Given the description of an element on the screen output the (x, y) to click on. 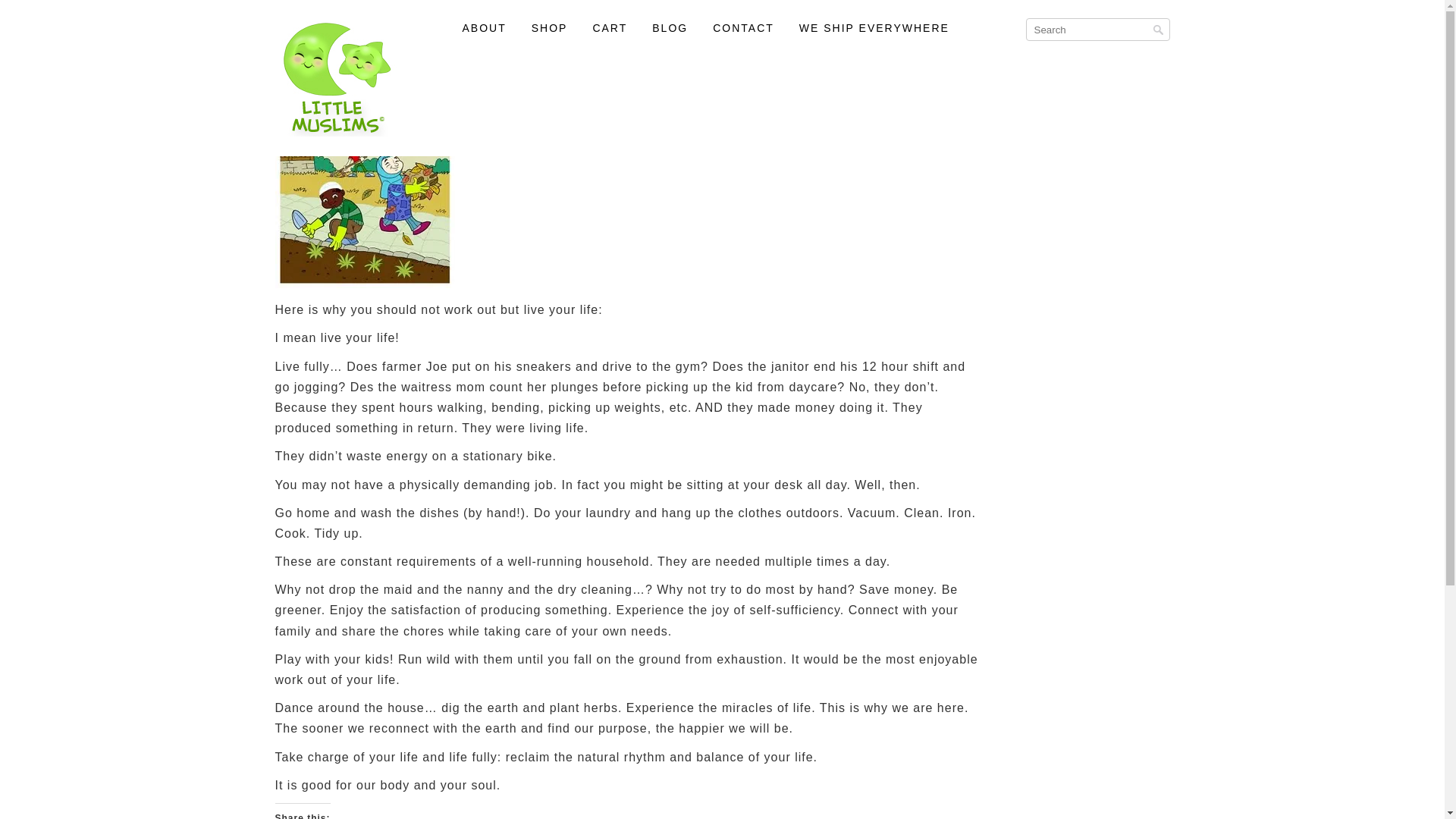
SHOP (549, 28)
ABOUT (483, 28)
Connect via Facebook (1087, 61)
WE SHIP EVERYWHERE (874, 28)
CONTACT (743, 28)
CART (609, 28)
BLOG (670, 28)
Connect via Facebook (1092, 27)
